Given the description of an element on the screen output the (x, y) to click on. 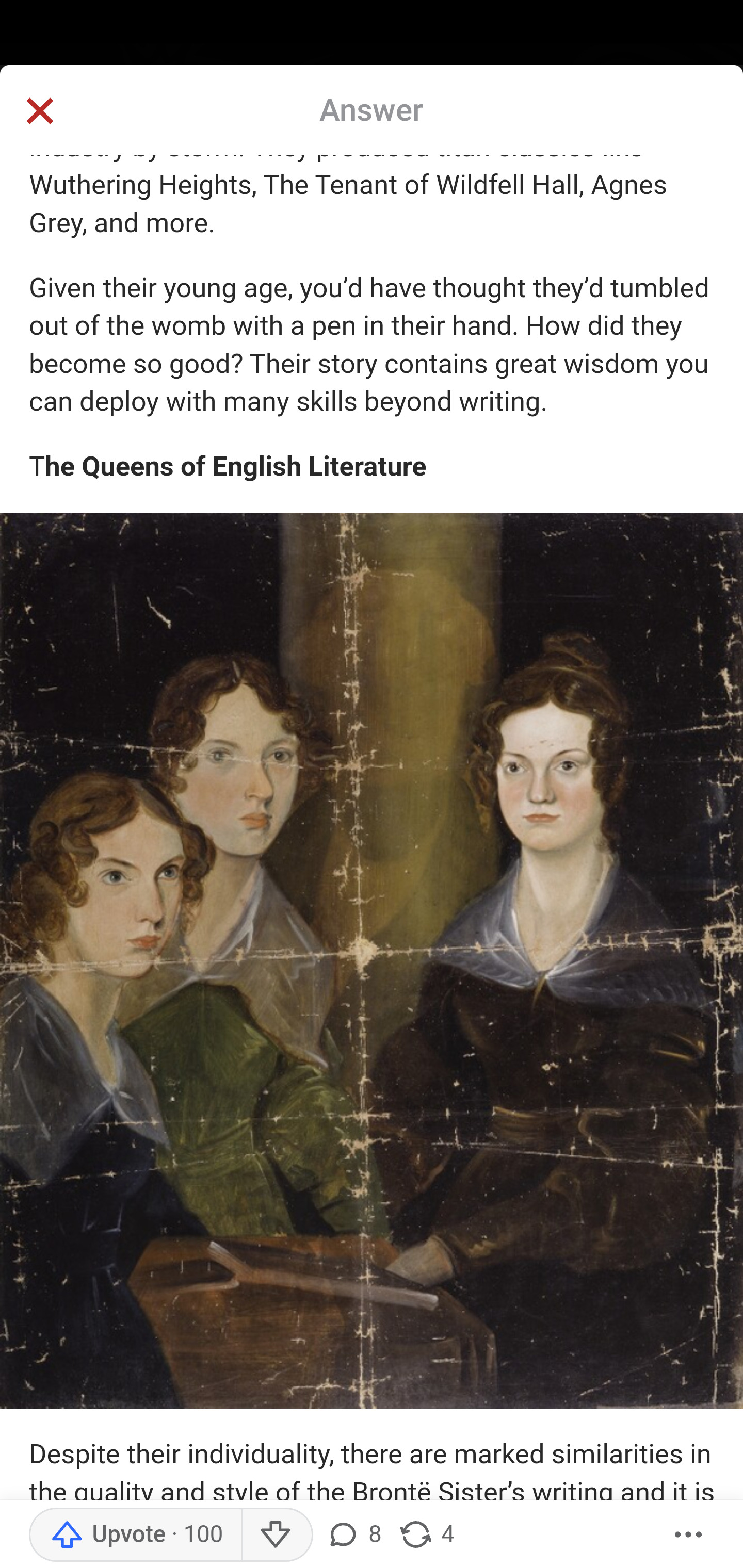
 (39, 112)
Upvote (135, 1534)
Downvote (277, 1534)
8 comments (353, 1534)
4 shares (425, 1534)
More (688, 1534)
